Given the description of an element on the screen output the (x, y) to click on. 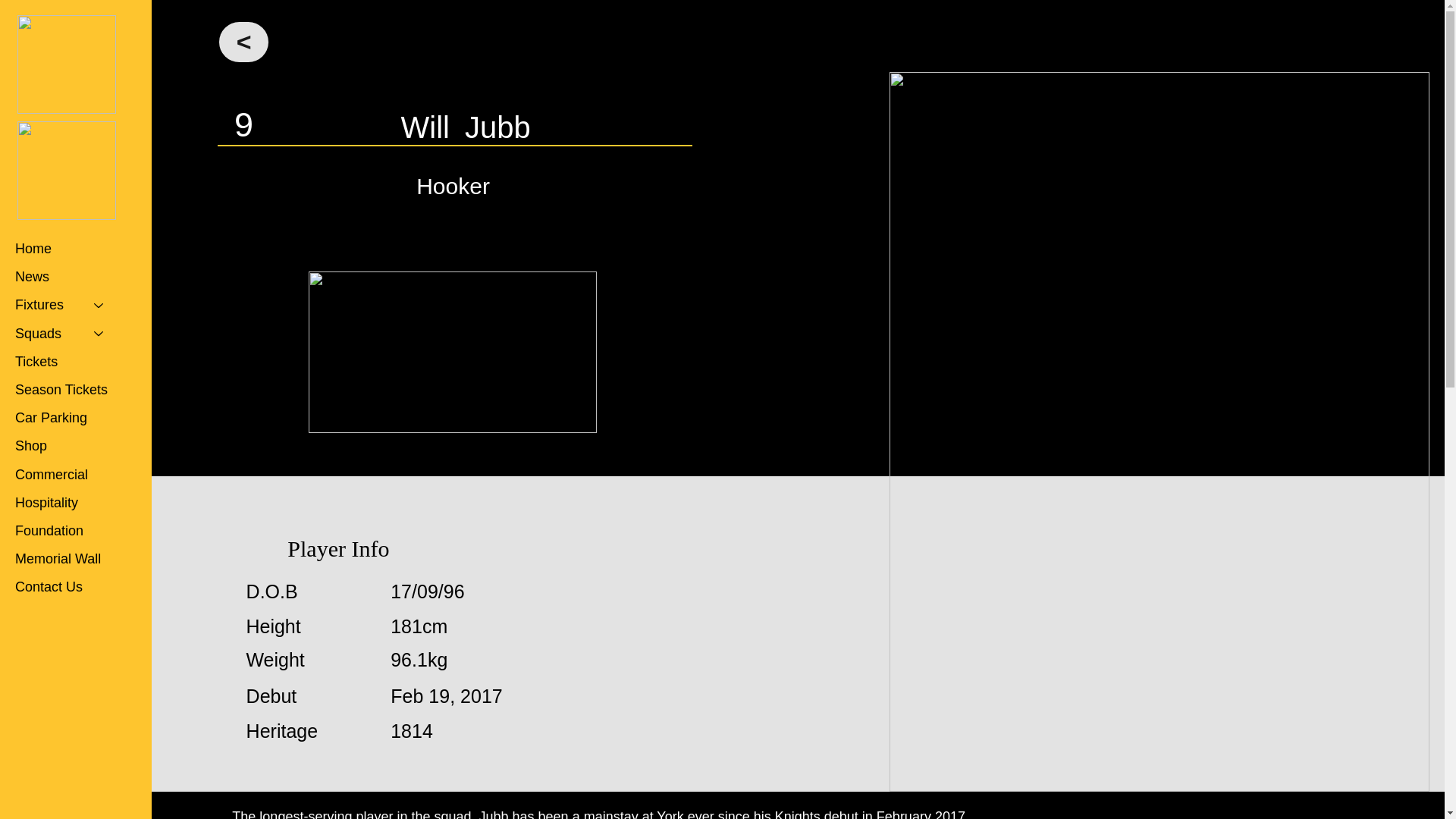
Tickets (65, 361)
Home (65, 248)
Foundation (65, 530)
Car Parking (65, 418)
Commercial (65, 474)
Memorial Wall (65, 559)
Hospitality (65, 502)
News (65, 276)
Season Tickets (65, 389)
Shop (65, 446)
